Given the description of an element on the screen output the (x, y) to click on. 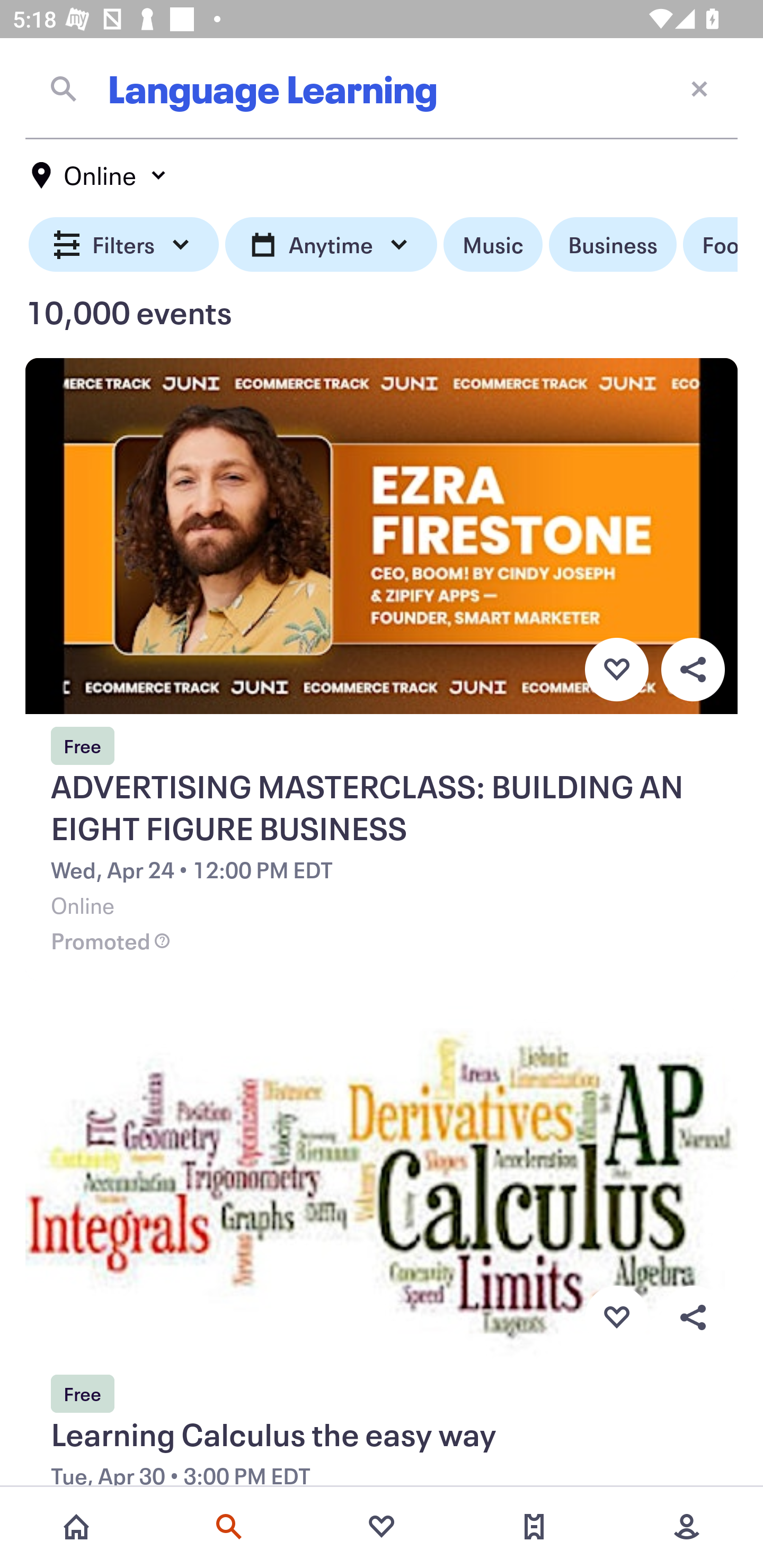
Language Learning Close current screen (381, 88)
Close current screen (699, 88)
Online (99, 175)
Filters (123, 244)
Anytime (331, 244)
Music (492, 244)
Business (612, 244)
Favorite button (616, 669)
Overflow menu button (692, 669)
Favorite button (616, 1317)
Overflow menu button (692, 1317)
Home (76, 1526)
Search events (228, 1526)
Favorites (381, 1526)
Tickets (533, 1526)
More (686, 1526)
